Given the description of an element on the screen output the (x, y) to click on. 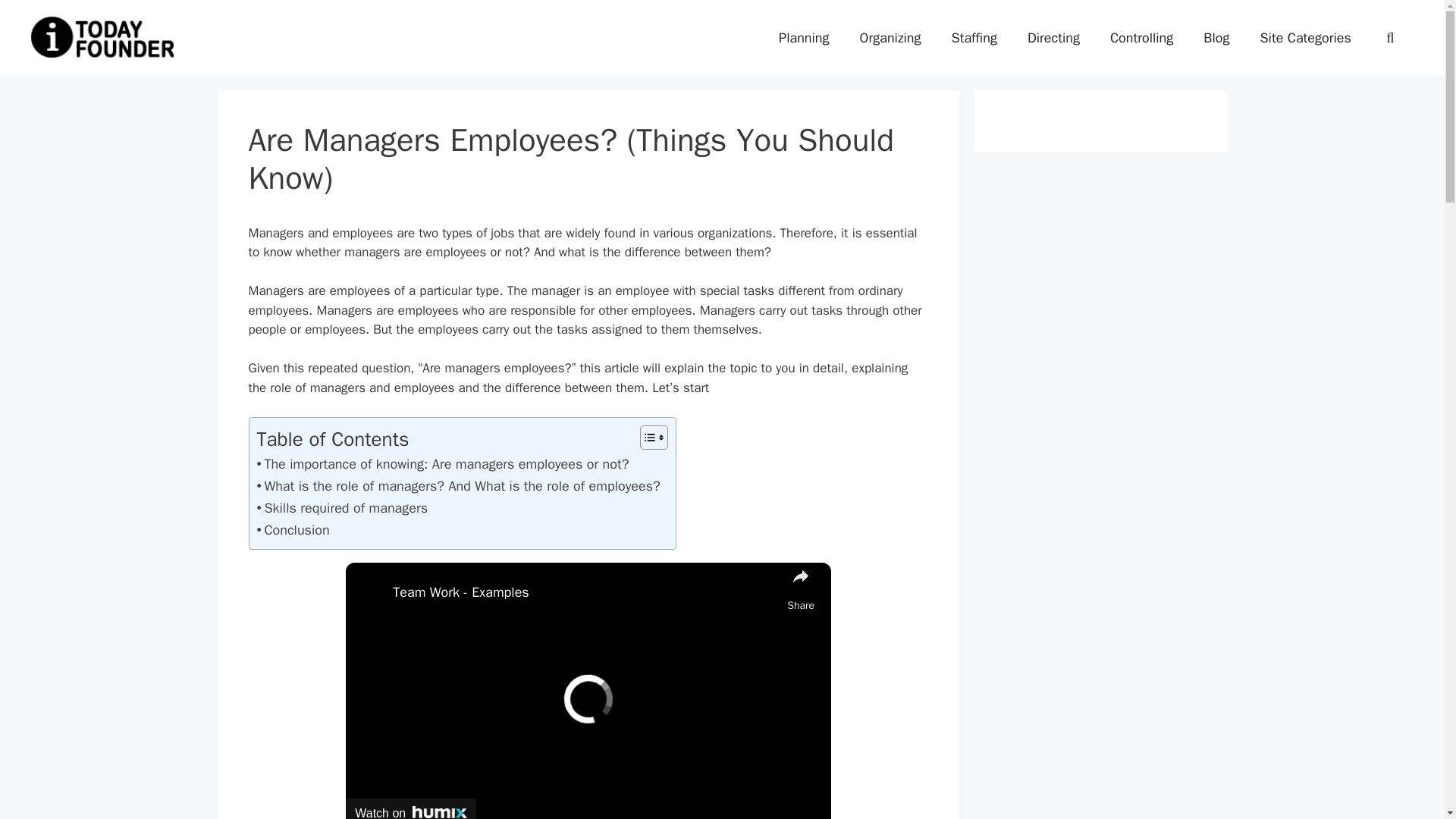
Organizing (890, 37)
Watch on (411, 808)
Team Work - Examples (585, 592)
The importance of knowing: Are managers employees or not? (442, 464)
Controlling (1141, 37)
Conclusion (292, 530)
Skills required of managers  (343, 508)
Staffing (973, 37)
Directing (1052, 37)
Site Categories (1304, 37)
Blog (1216, 37)
Conclusion (292, 530)
